Given the description of an element on the screen output the (x, y) to click on. 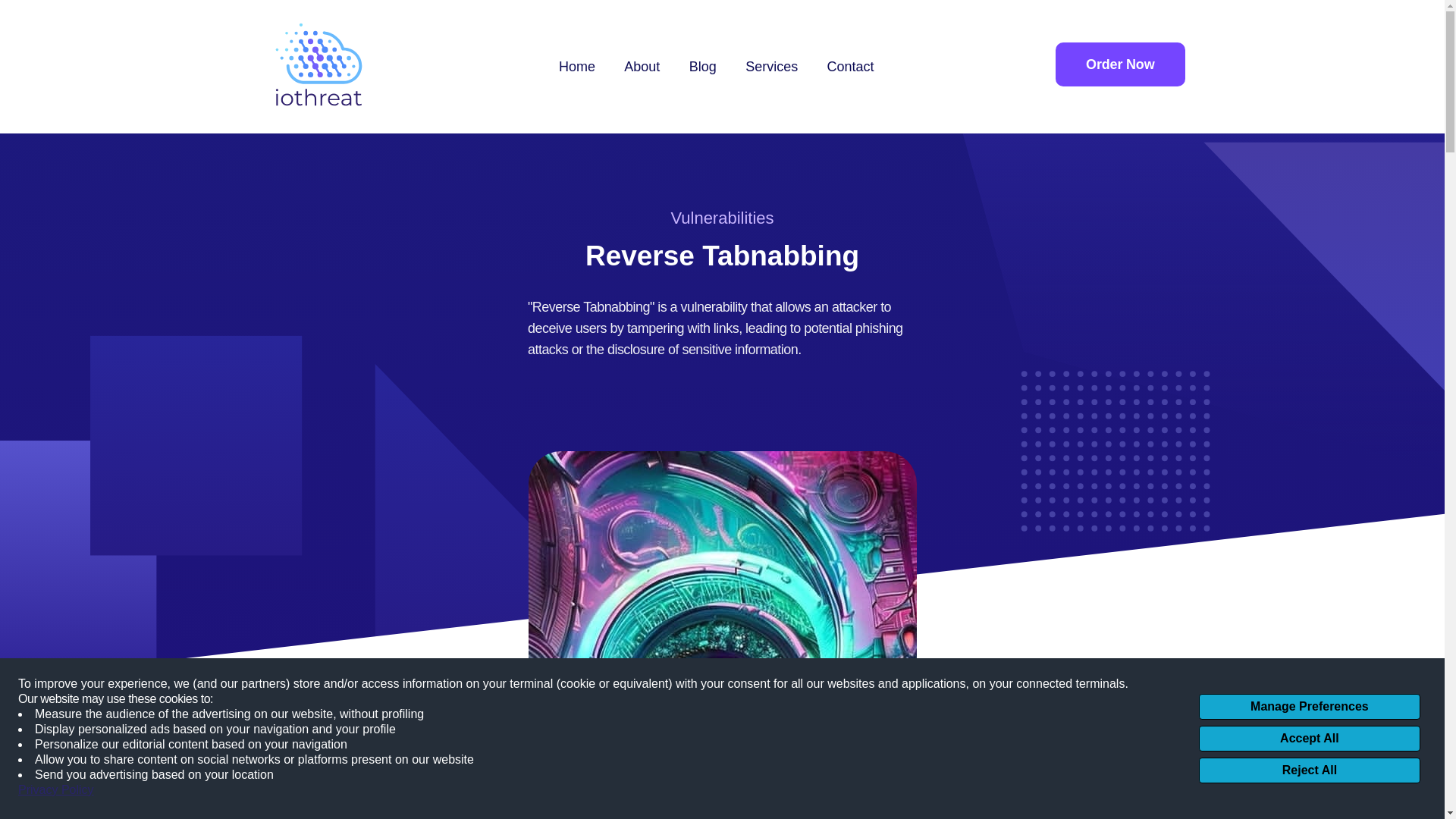
Home (577, 66)
Privacy Policy (55, 789)
Vulnerabilities (721, 218)
Manage Preferences (1309, 706)
Services (771, 66)
Accept All (1309, 738)
Contact (851, 66)
Blog (702, 66)
About (641, 66)
Reject All (1309, 769)
Order Now (1120, 64)
